Given the description of an element on the screen output the (x, y) to click on. 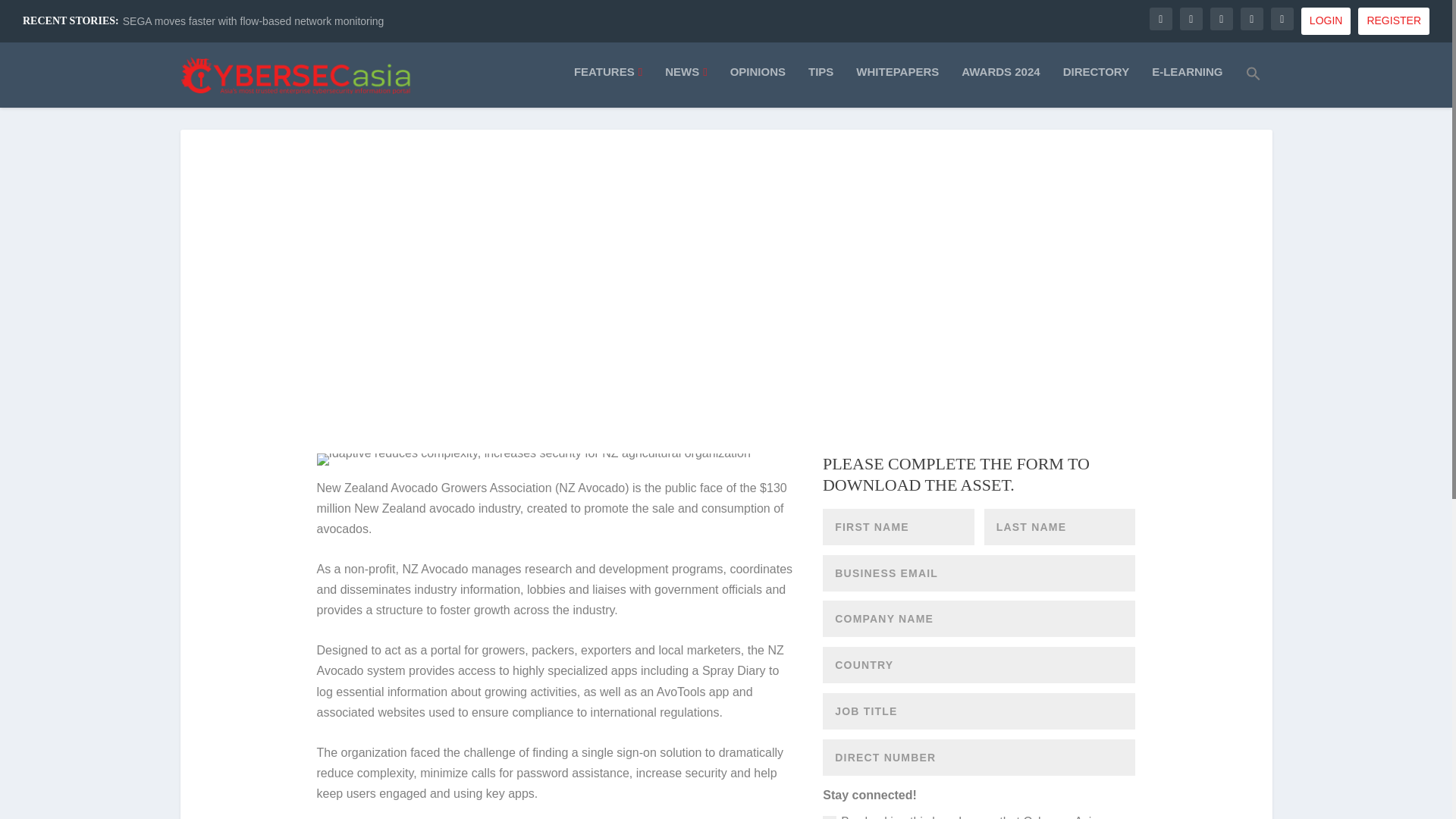
FEATURES (607, 84)
OPINIONS (758, 84)
Only letters allowed. (978, 710)
Only letters allowed. (1059, 526)
WHITEPAPERS (897, 84)
SEGA moves faster with flow-based network monitoring (253, 21)
AWARDS 2024 (999, 84)
NEWS (685, 84)
